Given the description of an element on the screen output the (x, y) to click on. 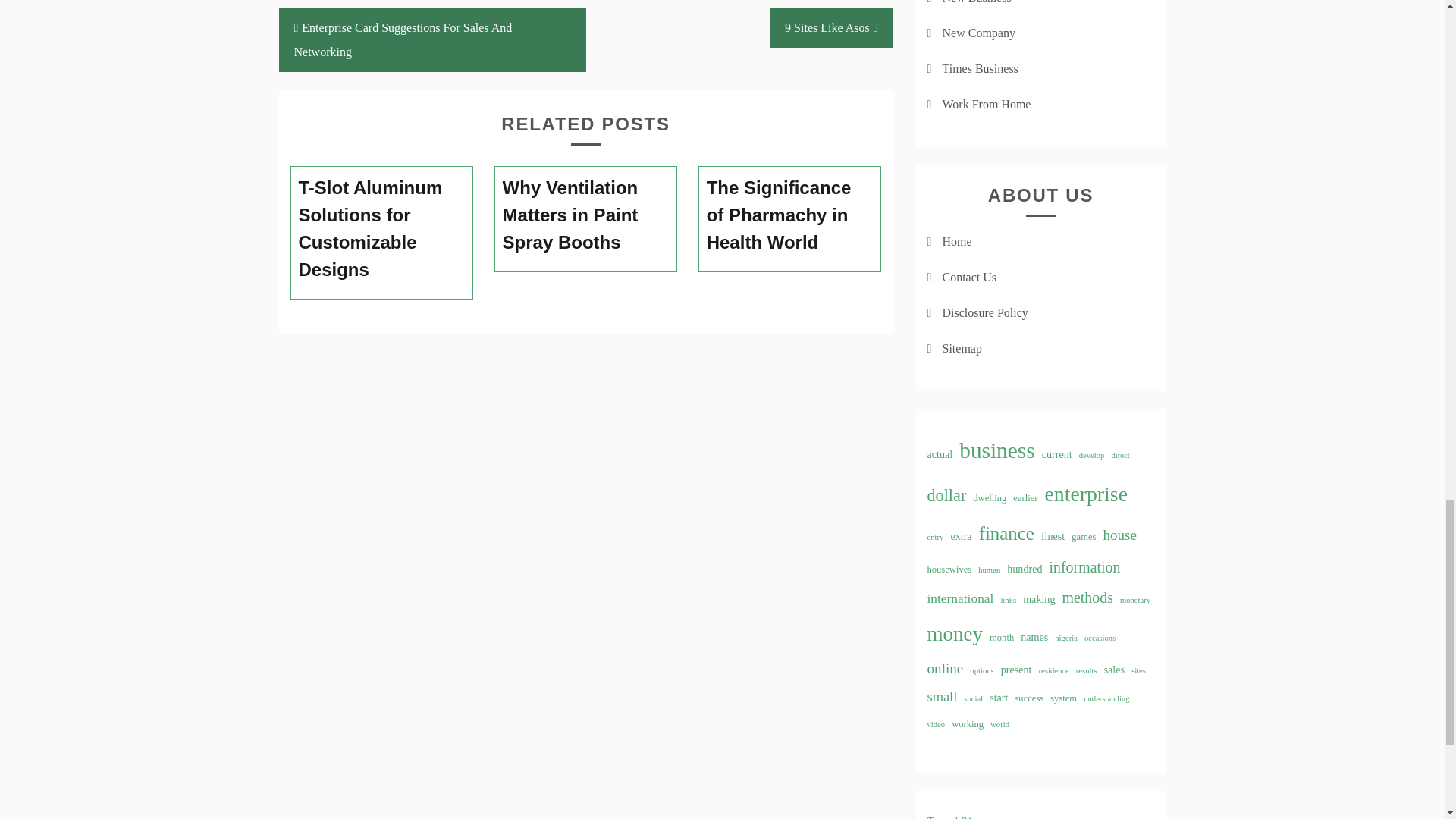
T-Slot Aluminum Solutions for Customizable Designs (381, 228)
Enterprise Card Suggestions For Sales And Networking (432, 40)
The Significance of Pharmachy in Health World (789, 215)
9 Sites Like Asos (831, 27)
Why Ventilation Matters in Paint Spray Booths (585, 215)
